Given the description of an element on the screen output the (x, y) to click on. 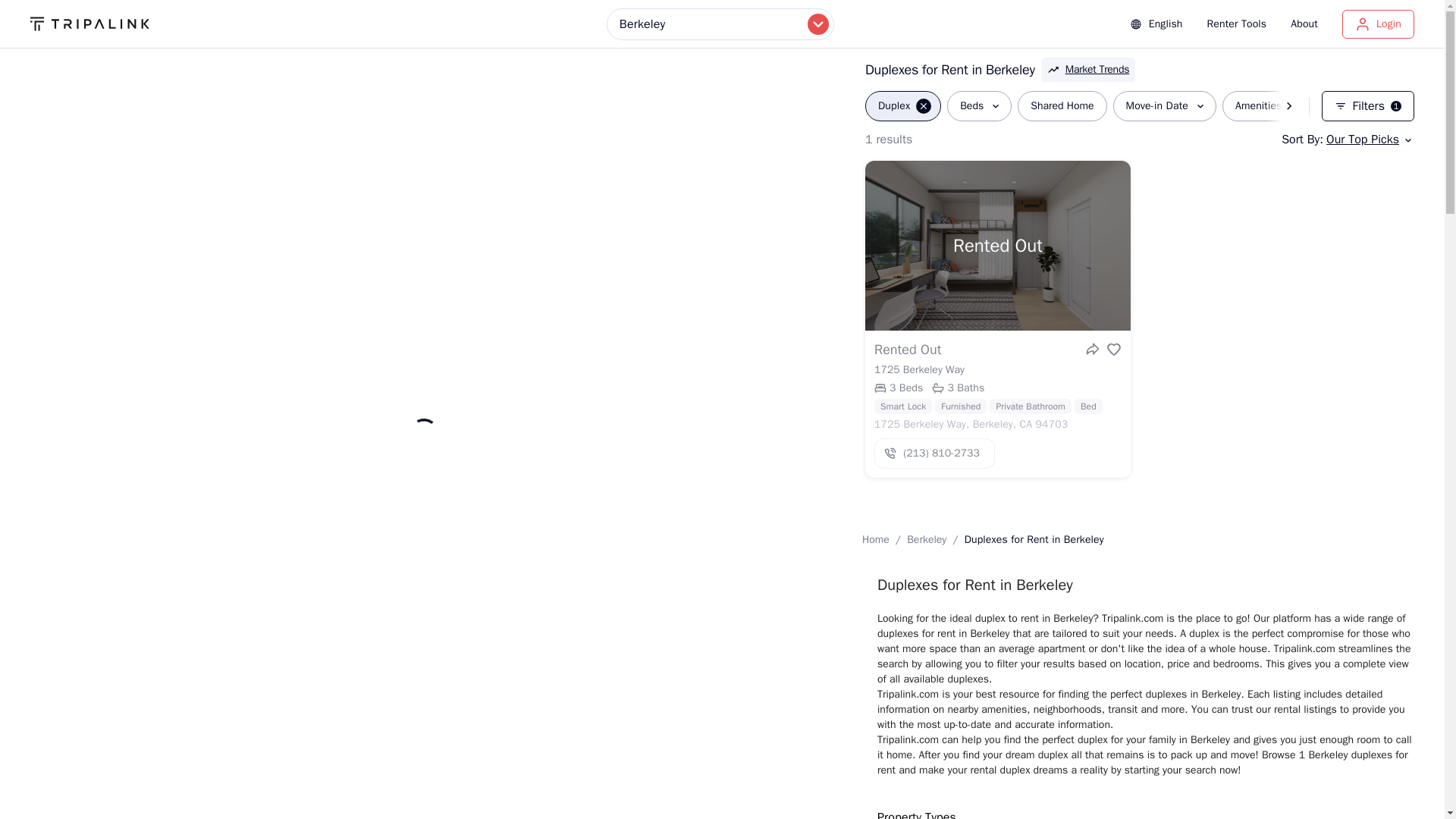
Our Top Picks (1368, 139)
Home (875, 539)
Move-in Date (1164, 105)
Amenities (1266, 105)
Shared Home (1080, 105)
Berkeley (1367, 105)
Request Tour (1061, 105)
Beds (926, 539)
